Given the description of an element on the screen output the (x, y) to click on. 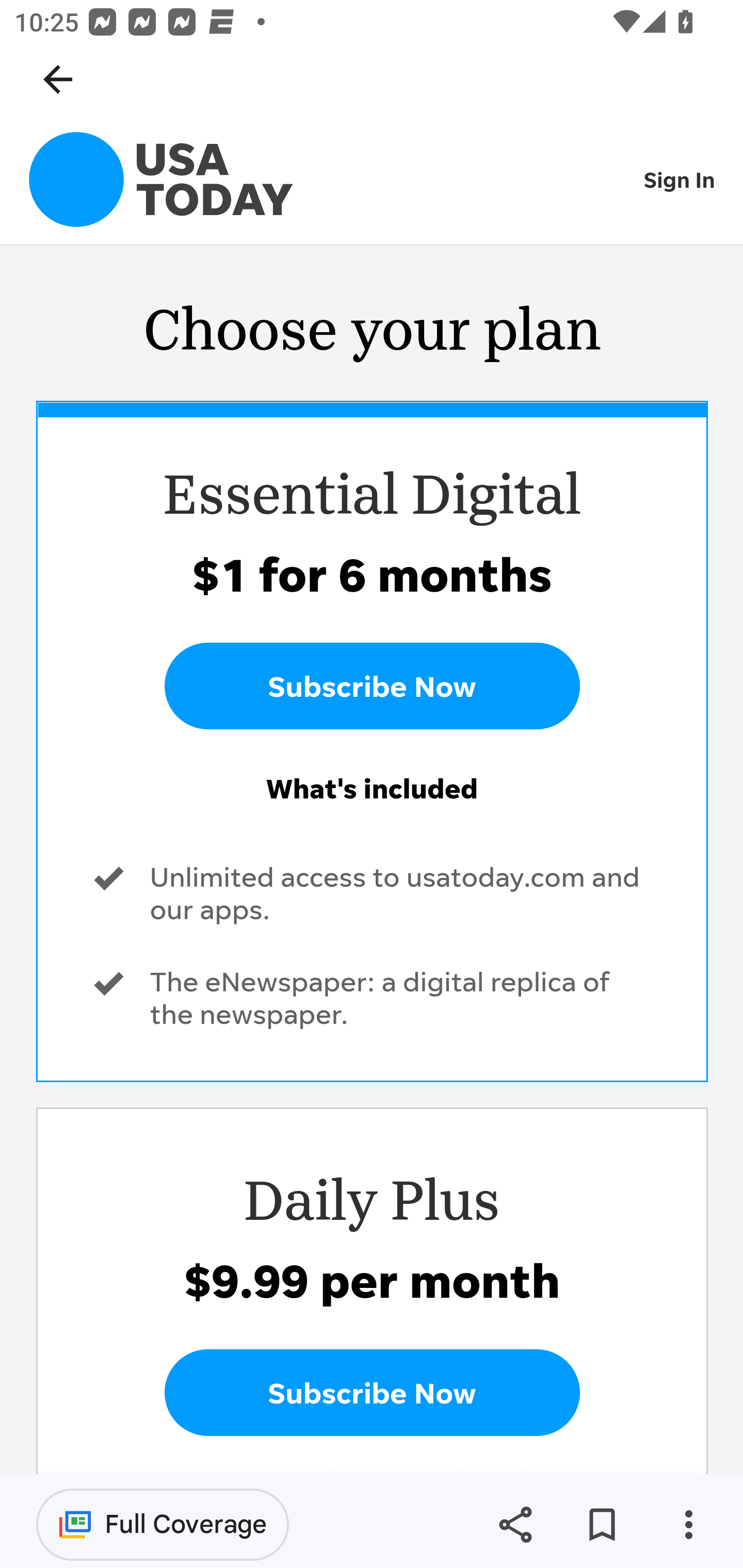
Navigate up (57, 79)
usatoday Logo (161, 179)
Sign In (679, 179)
&theme=slim Subscribe Now (371, 685)
&theme=slim Subscribe Now (371, 1392)
Share (514, 1524)
Save for later (601, 1524)
More options (688, 1524)
Full Coverage (162, 1524)
